Given the description of an element on the screen output the (x, y) to click on. 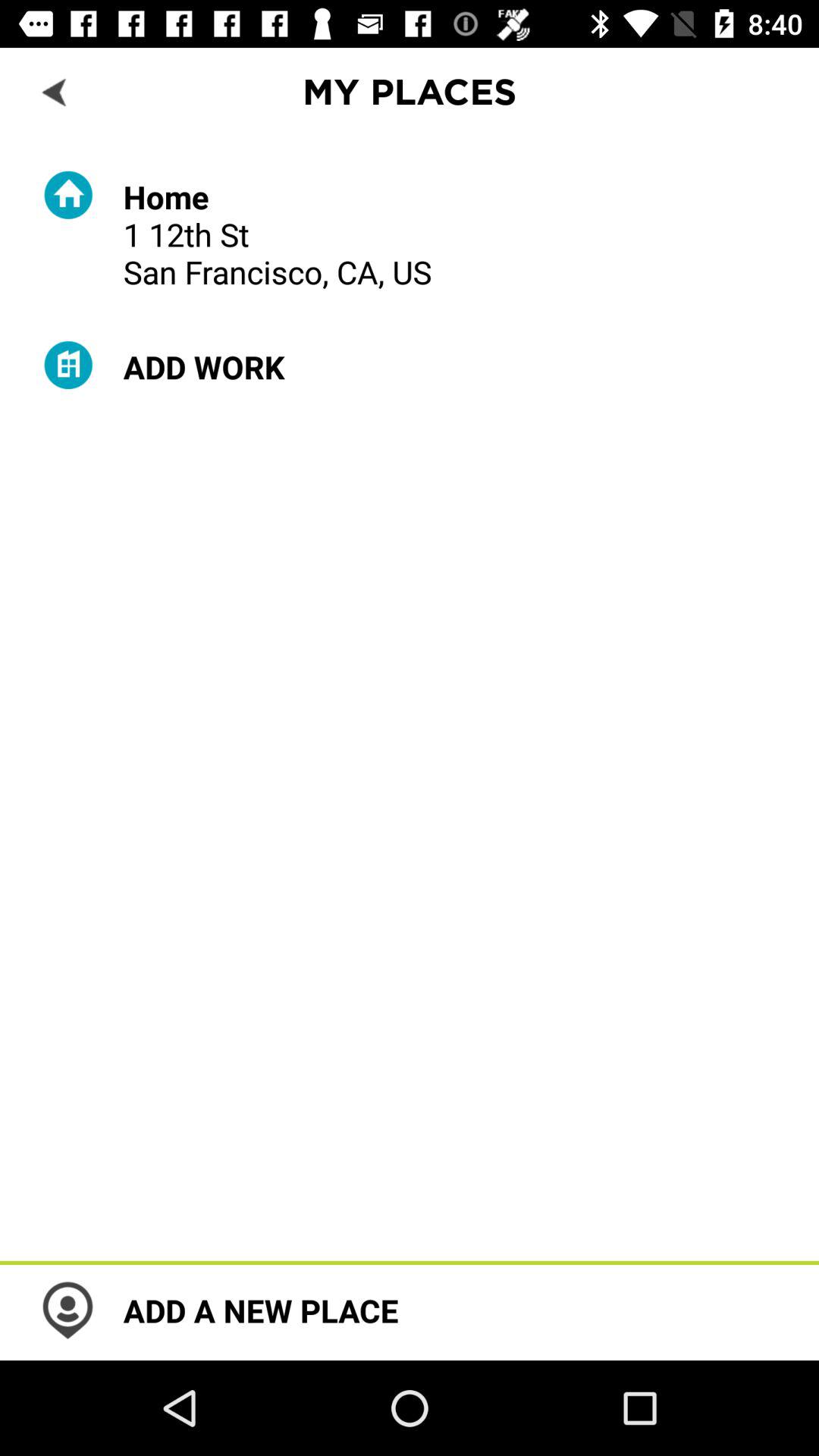
open the icon below my places (277, 234)
